Given the description of an element on the screen output the (x, y) to click on. 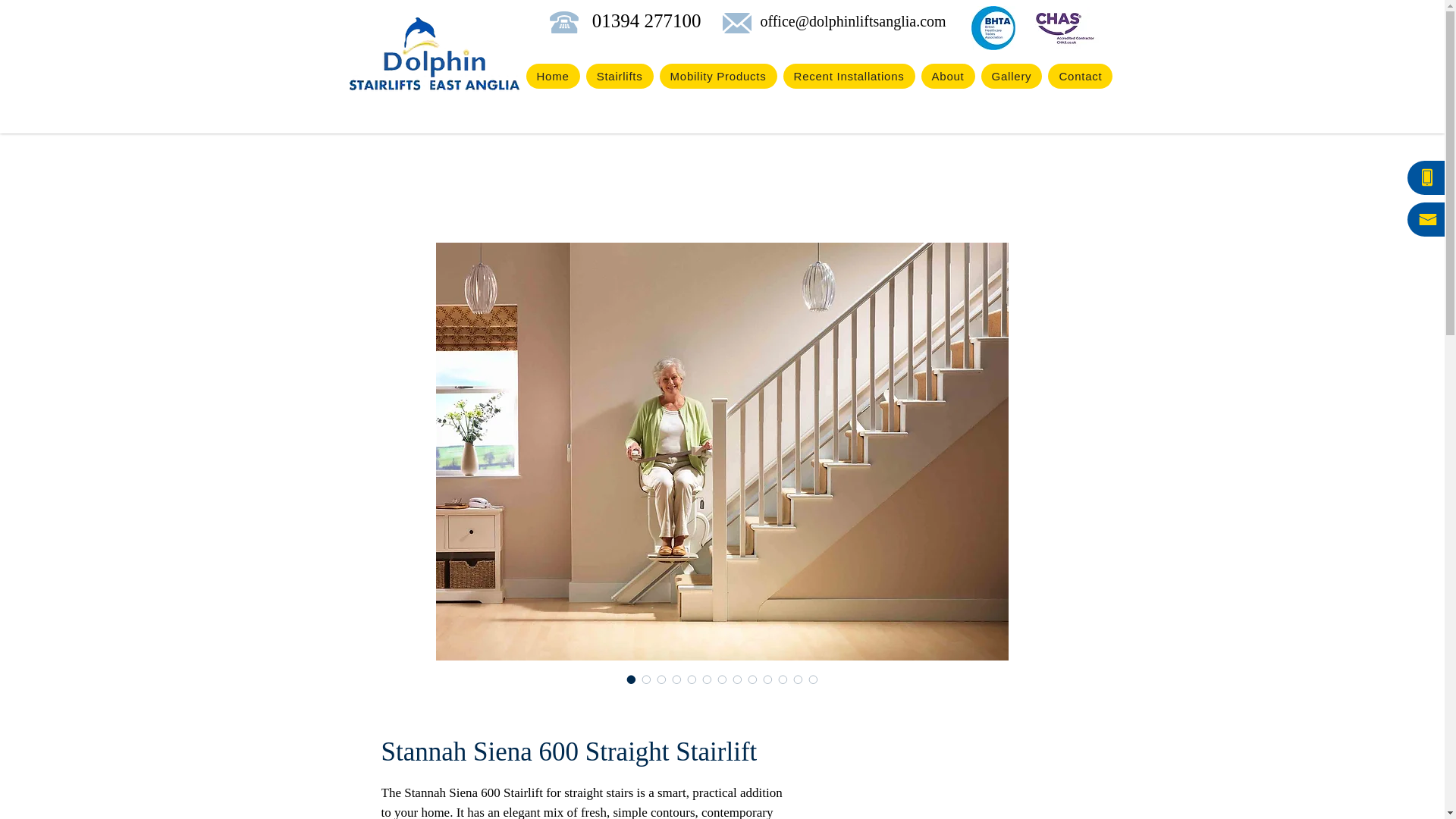
Gallery (1011, 75)
Recent Installations (849, 75)
Contact (1080, 75)
 01394 277100 (643, 20)
Stairlifts (619, 75)
Home (552, 75)
